Given the description of an element on the screen output the (x, y) to click on. 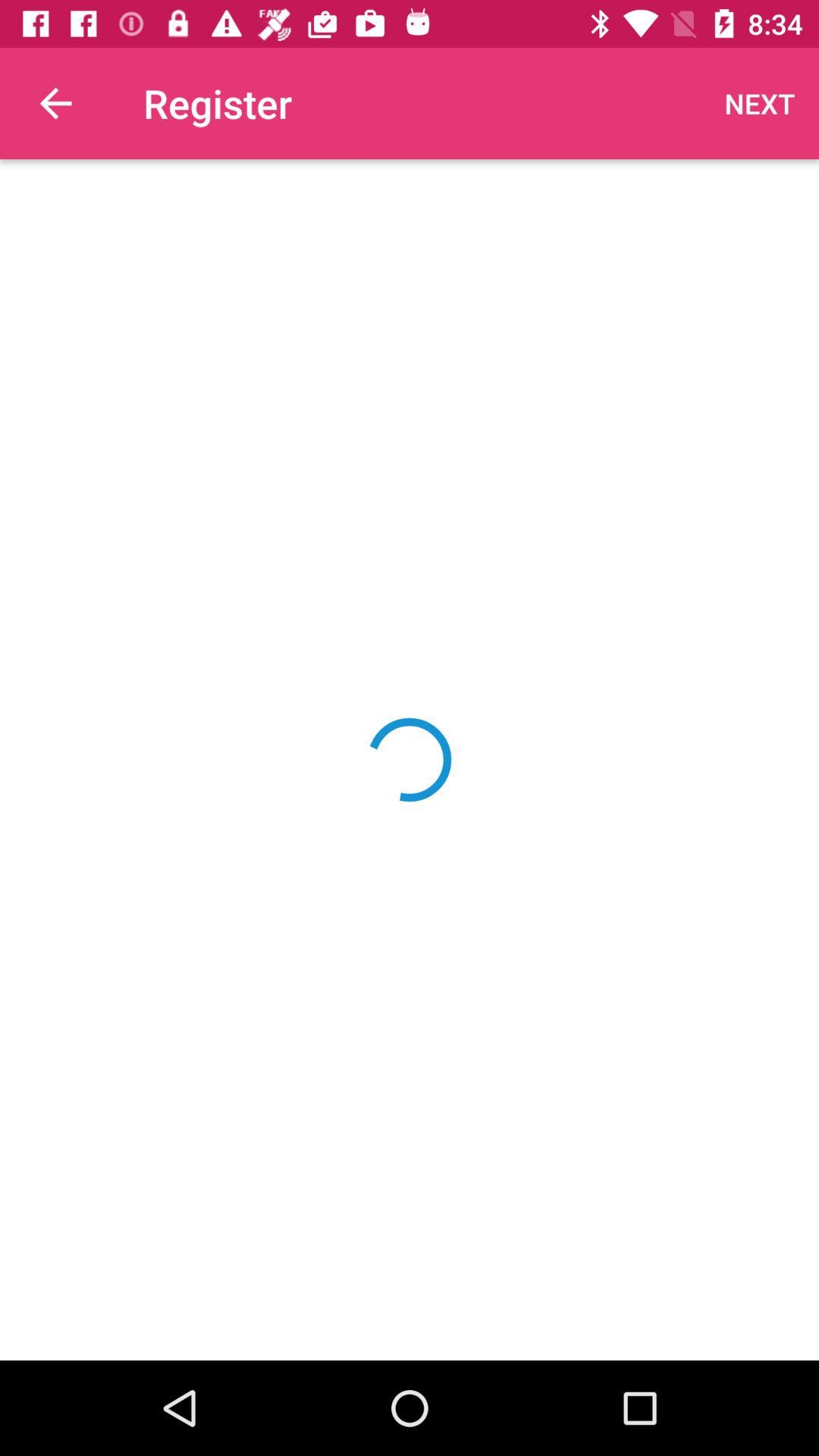
click the icon to the right of register icon (759, 103)
